Given the description of an element on the screen output the (x, y) to click on. 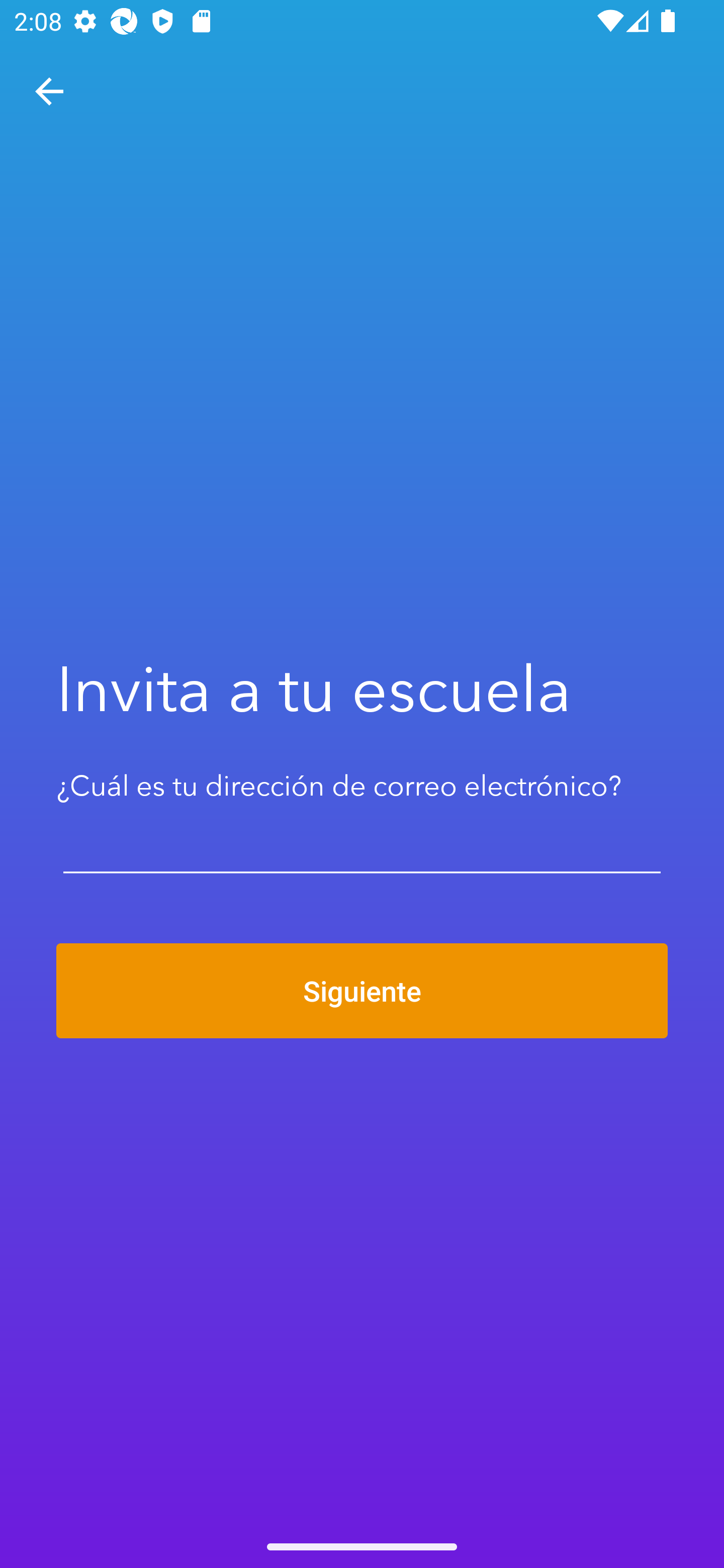
Navegar hacia arriba (49, 91)
Siguiente (361, 990)
